Given the description of an element on the screen output the (x, y) to click on. 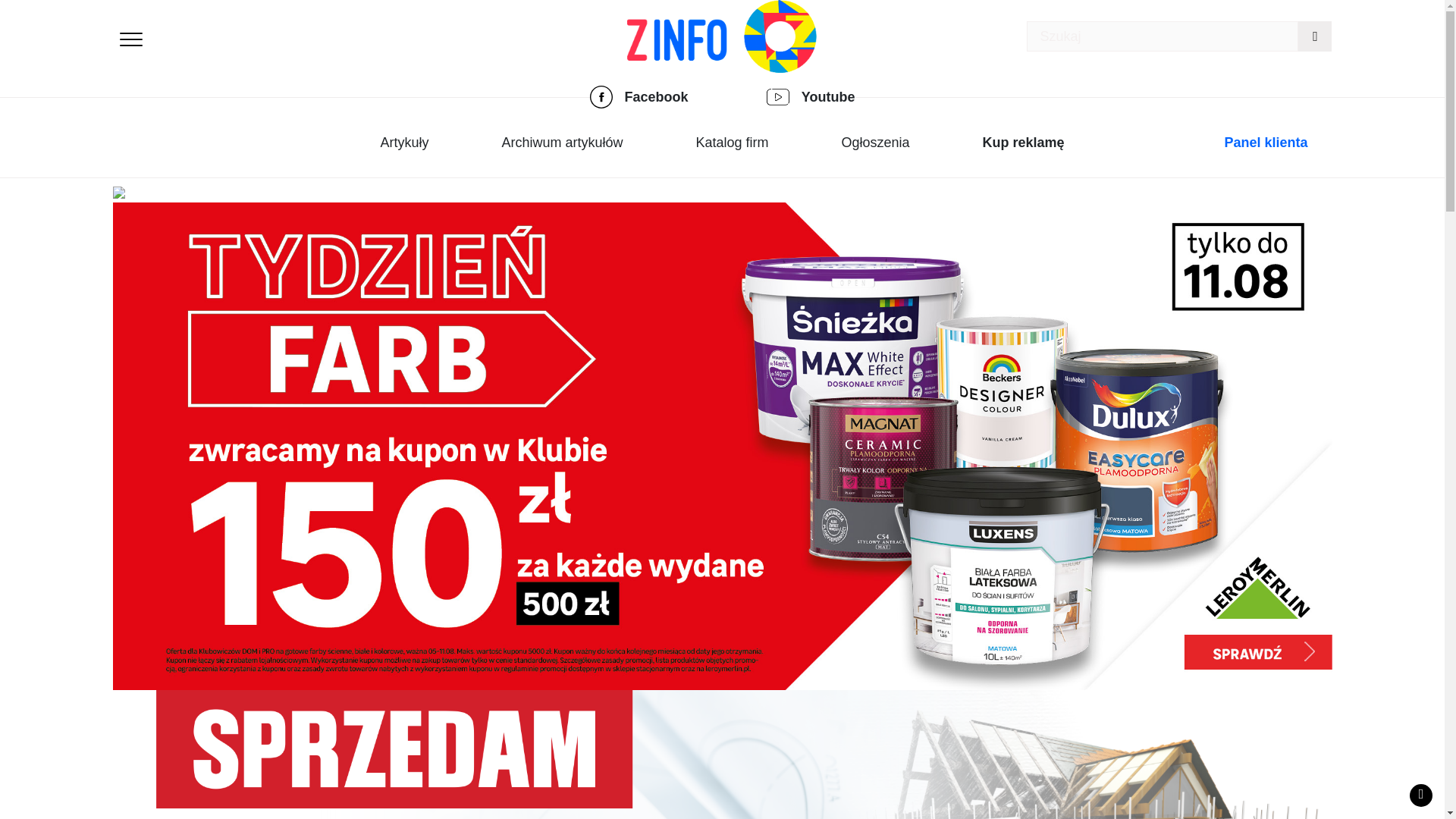
Dziennik ZINFO (721, 36)
Katalog firm (732, 142)
Facebook (656, 96)
Panel klienta (1265, 142)
Youtube (829, 96)
